Given the description of an element on the screen output the (x, y) to click on. 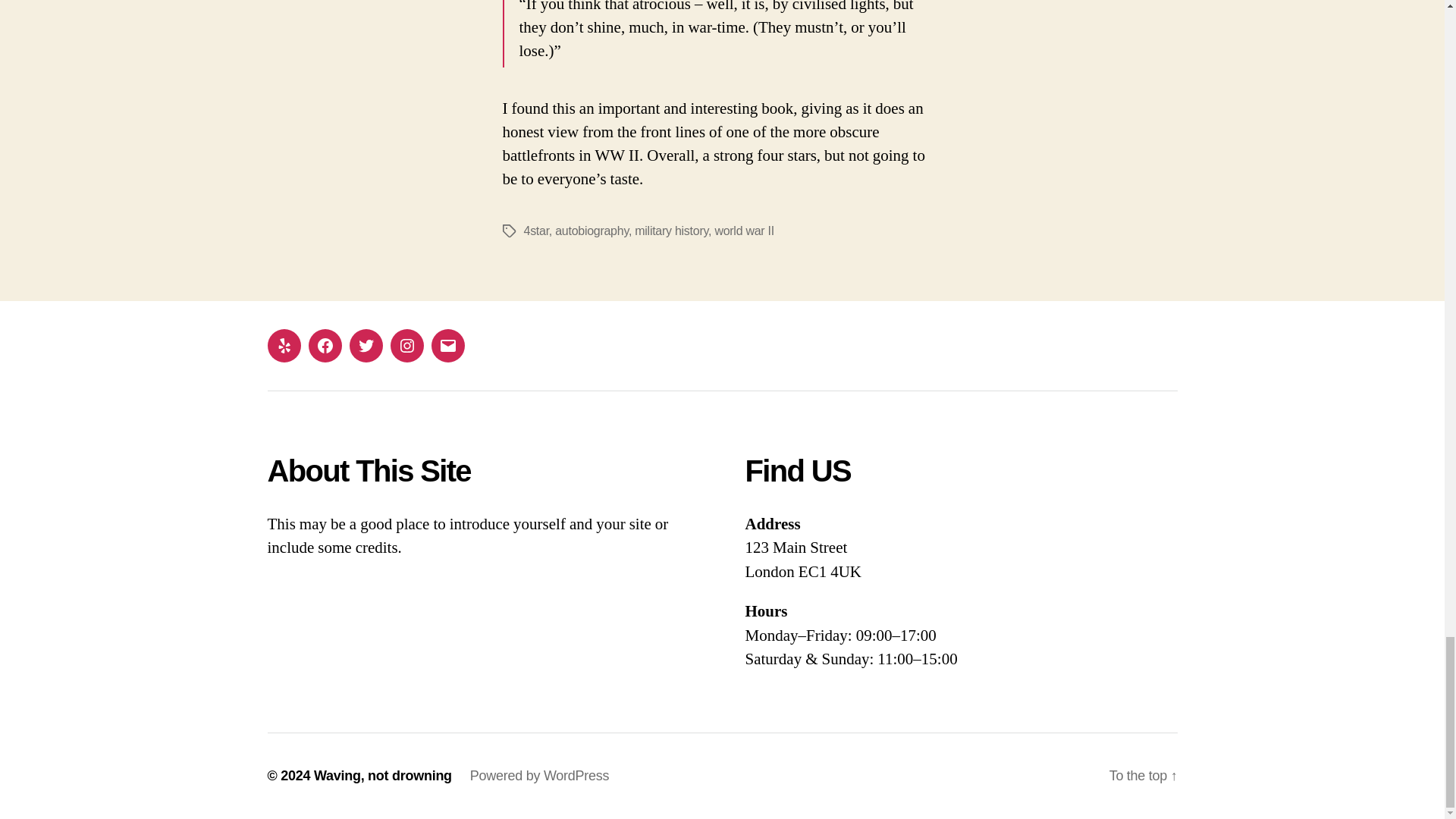
4star (535, 230)
Waving, not drowning (382, 775)
Email (447, 345)
Instagram (406, 345)
Facebook (323, 345)
military history (670, 230)
Yelp (282, 345)
autobiography (591, 230)
Twitter (365, 345)
world war II (744, 230)
